Given the description of an element on the screen output the (x, y) to click on. 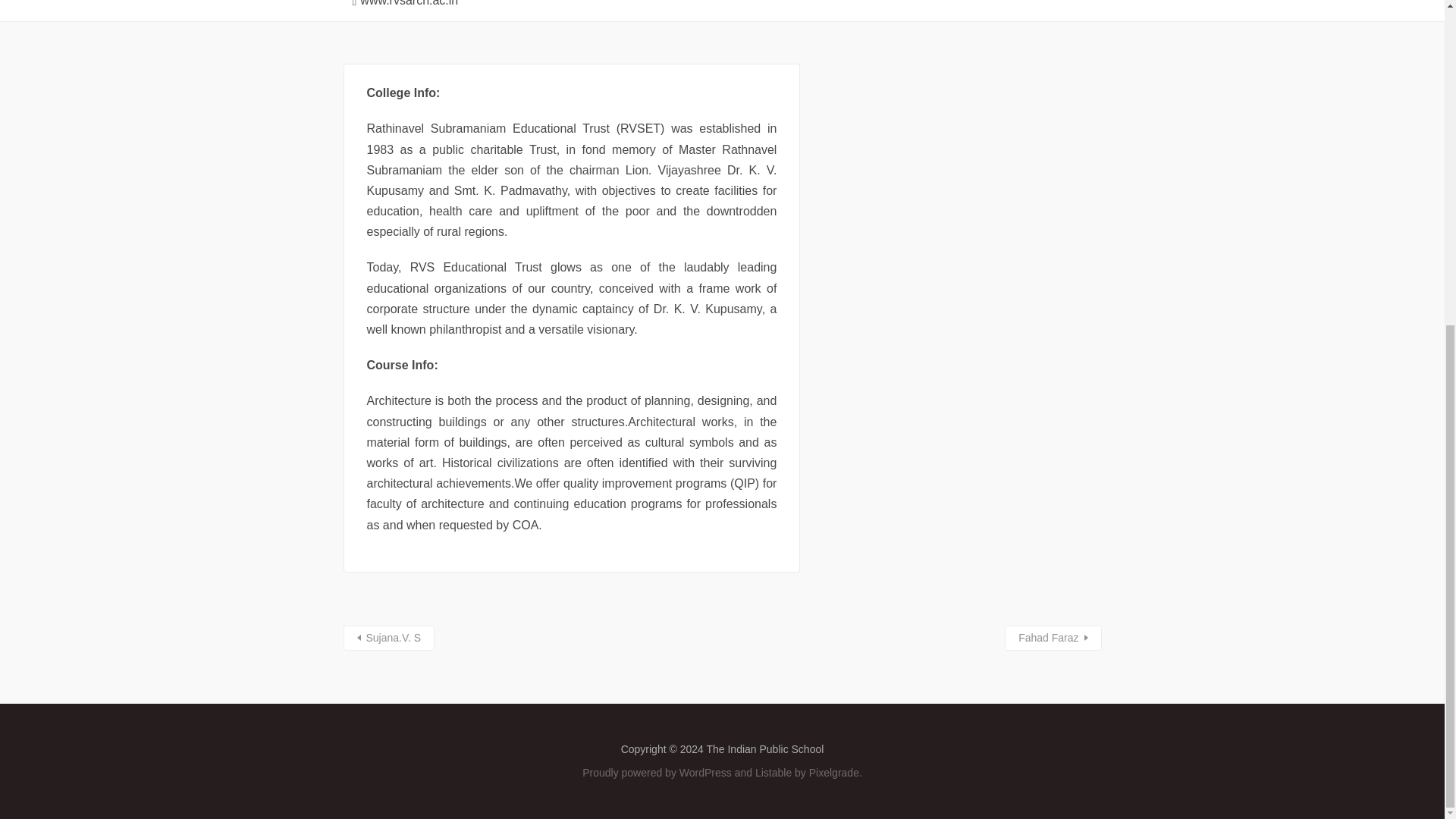
Sujana.V. S (387, 637)
Fahad Faraz (1052, 637)
Proudly powered by WordPress (657, 772)
www.rvsarch.ac.in (400, 5)
Pixelgrade (834, 772)
Listable (773, 772)
